Given the description of an element on the screen output the (x, y) to click on. 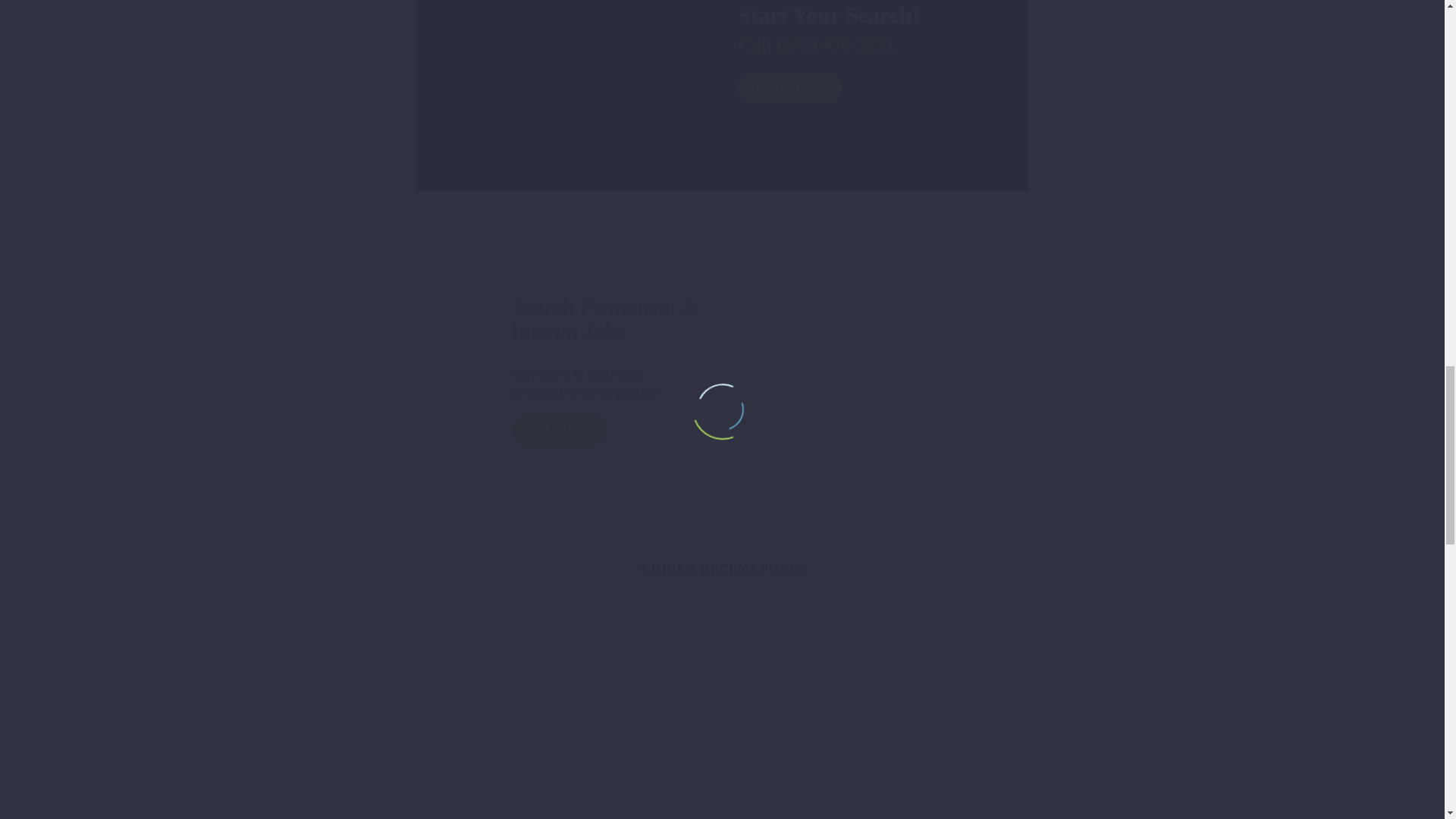
OR START NOW (789, 87)
Chris Ohlendorf (568, 85)
healthcare page image 1 (847, 372)
